Given the description of an element on the screen output the (x, y) to click on. 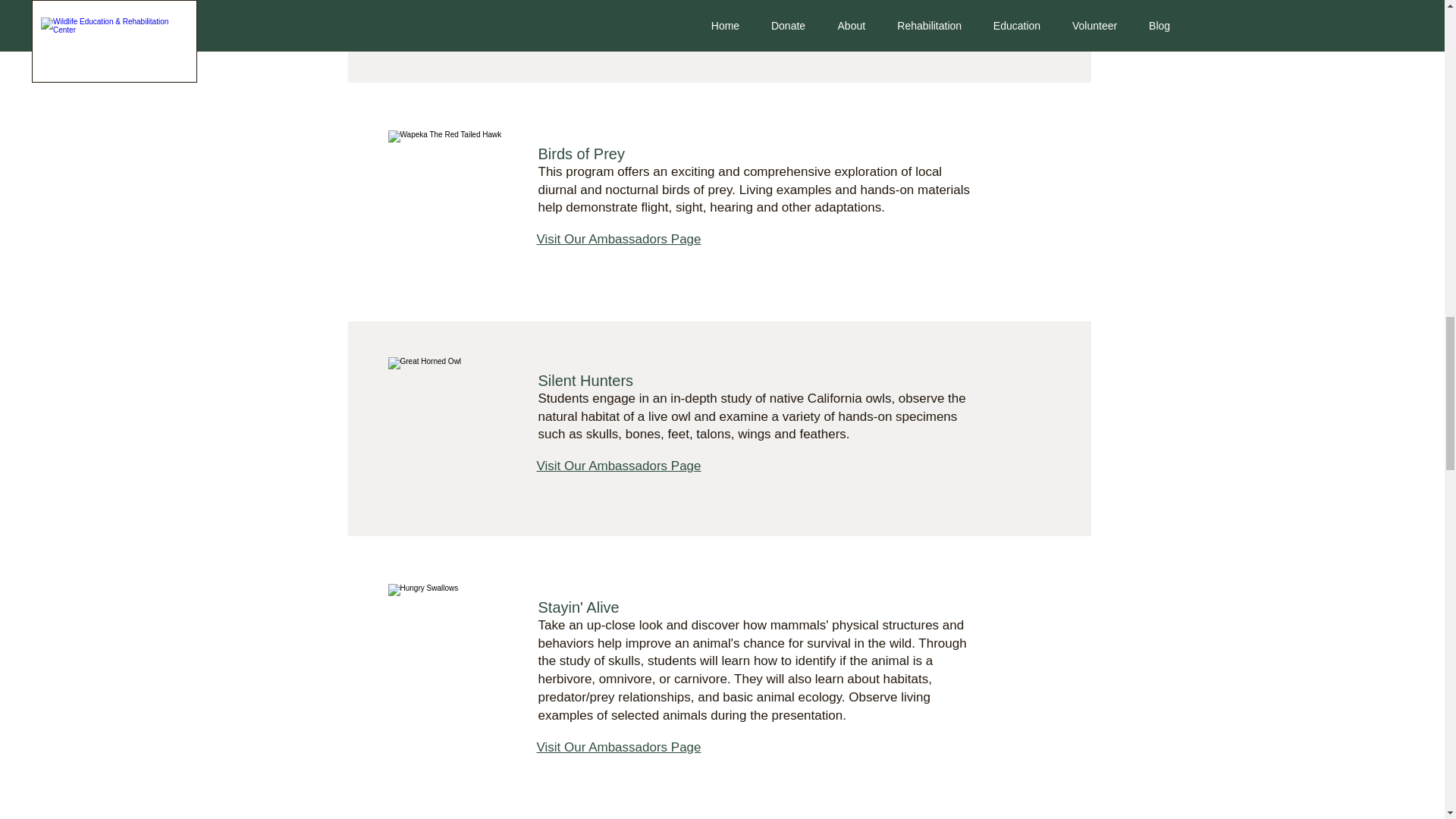
Photo Credit Brad Lewis (448, 195)
Visit Our Ambassadors Page (619, 238)
Visit Our Ambassadors Page (619, 465)
Photo Credit Brad Lewis (448, 16)
Photo Credit Brad Lewis (448, 648)
Visit Our Ambassadors Page (619, 11)
Photo Credit Brad Lewis (448, 421)
